Given the description of an element on the screen output the (x, y) to click on. 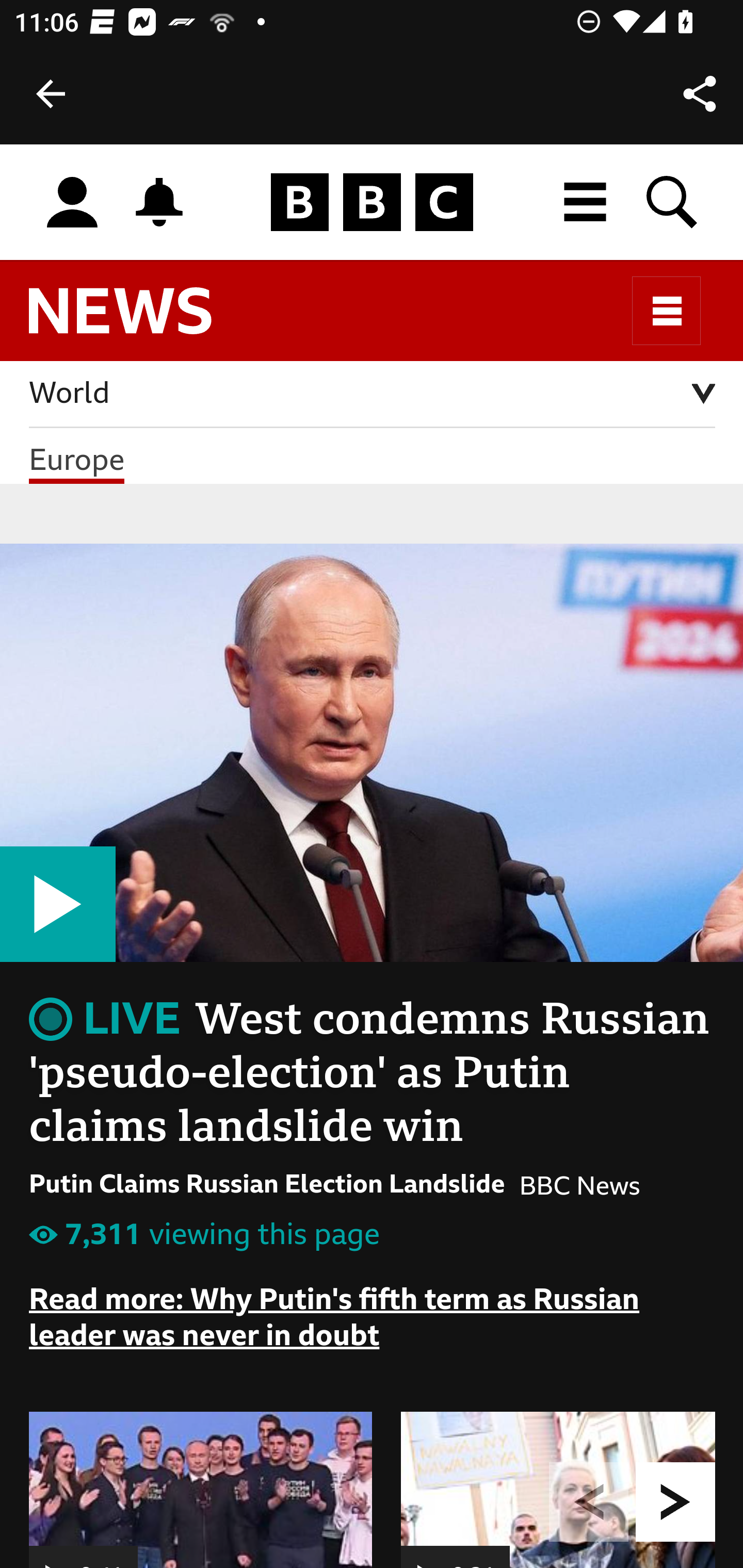
Back (50, 93)
Share (699, 93)
Notifications (159, 202)
All BBC destinations menu (585, 202)
Search BBC (672, 202)
Sign in (71, 203)
Homepage (371, 203)
Sections (667, 310)
BBC News (136, 319)
World (372, 394)
previous (589, 1502)
next (676, 1502)
